Given the description of an element on the screen output the (x, y) to click on. 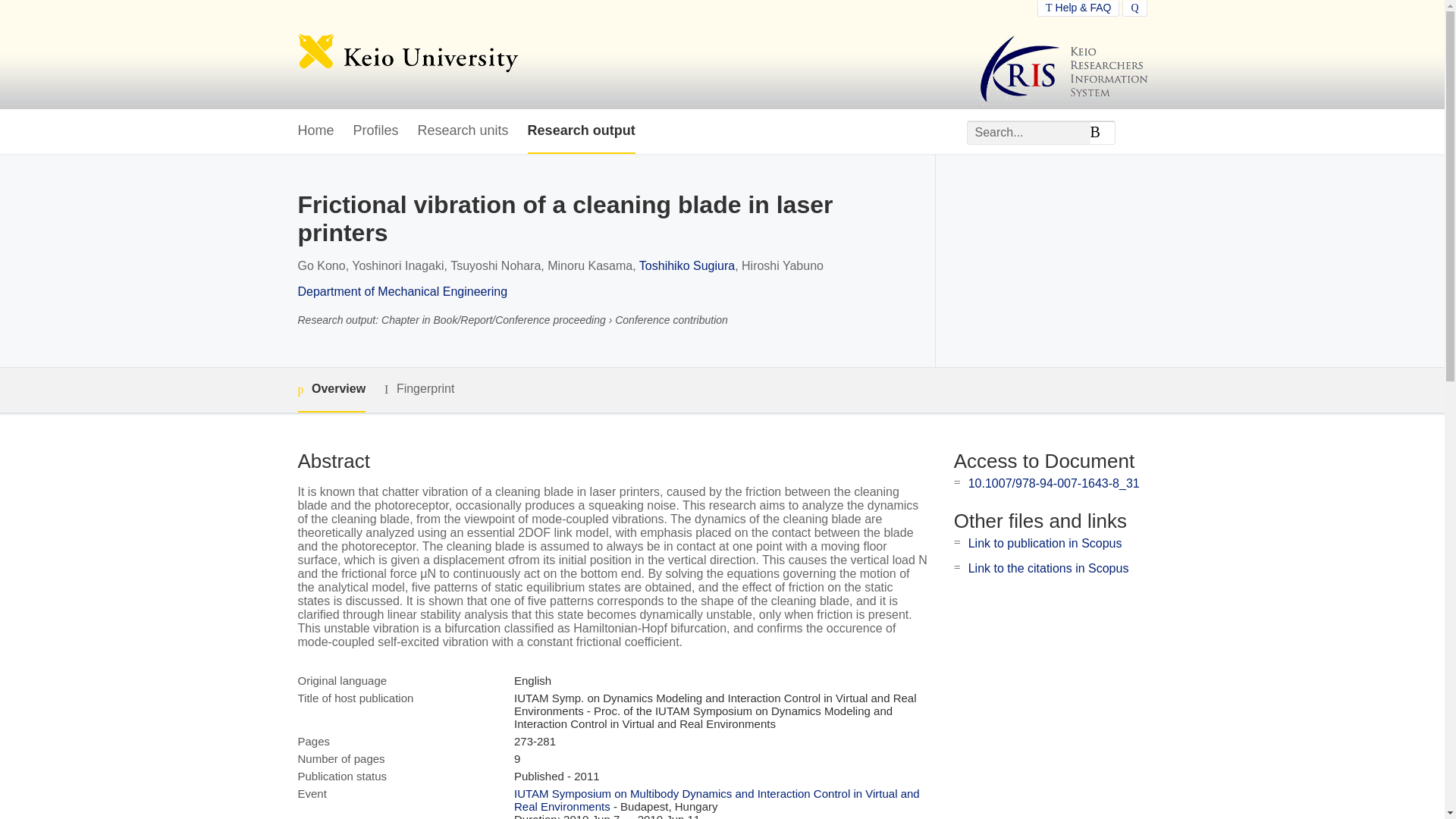
Fingerprint (419, 389)
Research output (580, 130)
Link to the citations in Scopus (1048, 567)
Link to publication in Scopus (1045, 543)
Overview (331, 389)
Research units (462, 130)
Profiles (375, 130)
Keio University Home (407, 54)
